Given the description of an element on the screen output the (x, y) to click on. 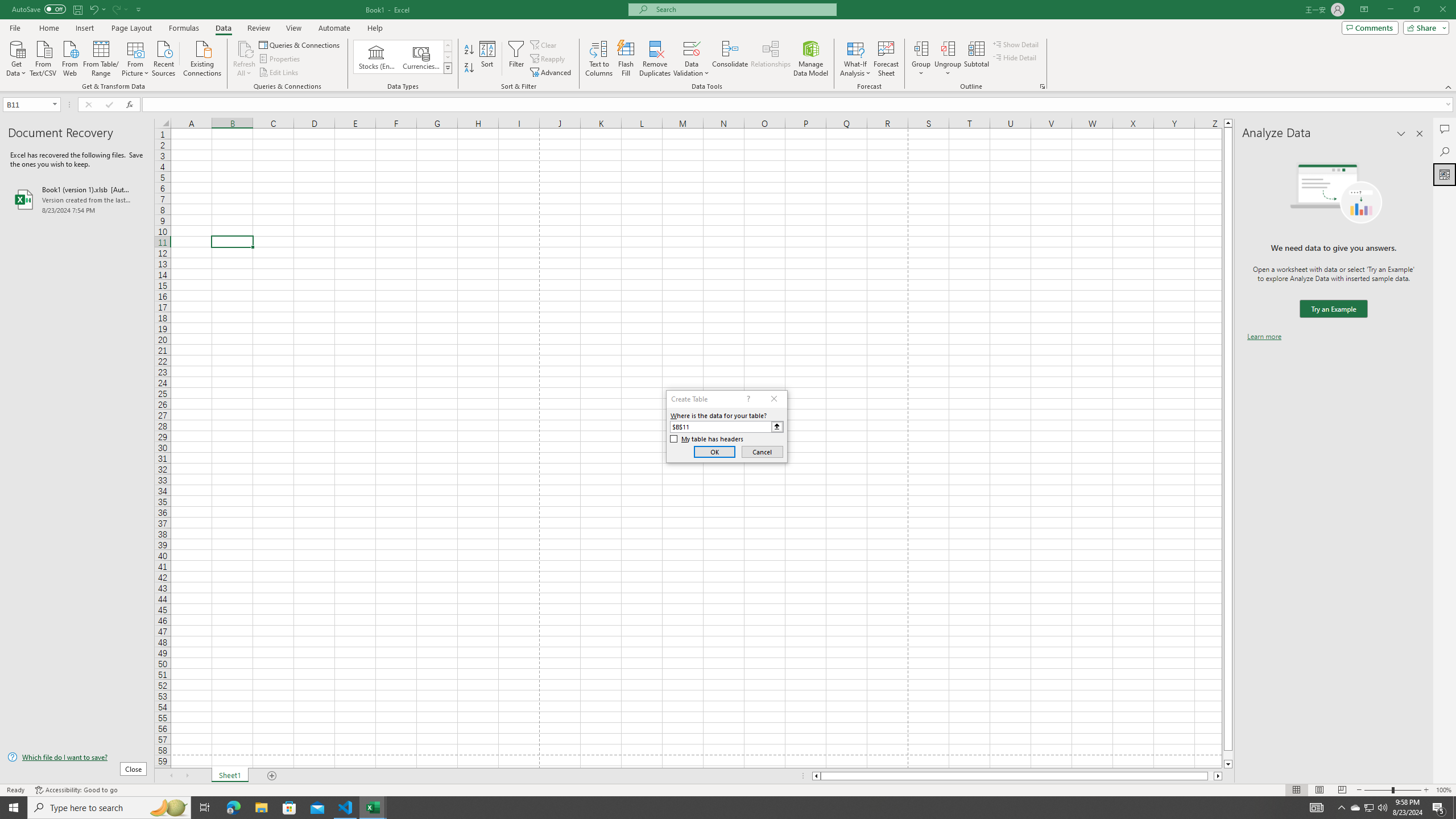
Sort Z to A (469, 67)
Recent Sources (163, 57)
Manage Data Model (810, 58)
Sort A to Z (469, 49)
Data Types (448, 67)
